Given the description of an element on the screen output the (x, y) to click on. 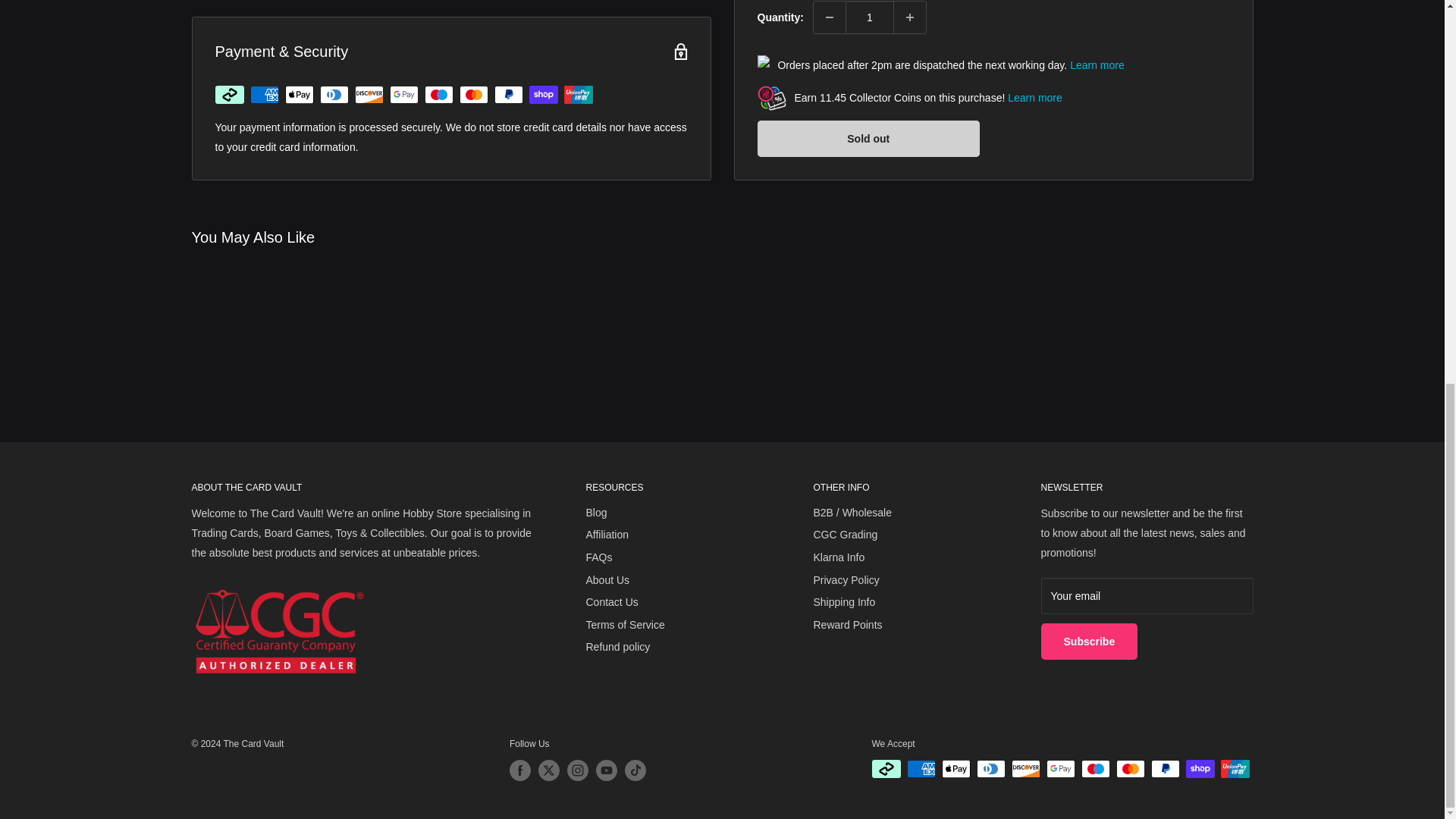
CGC Authorized Dealer (277, 629)
